Given the description of an element on the screen output the (x, y) to click on. 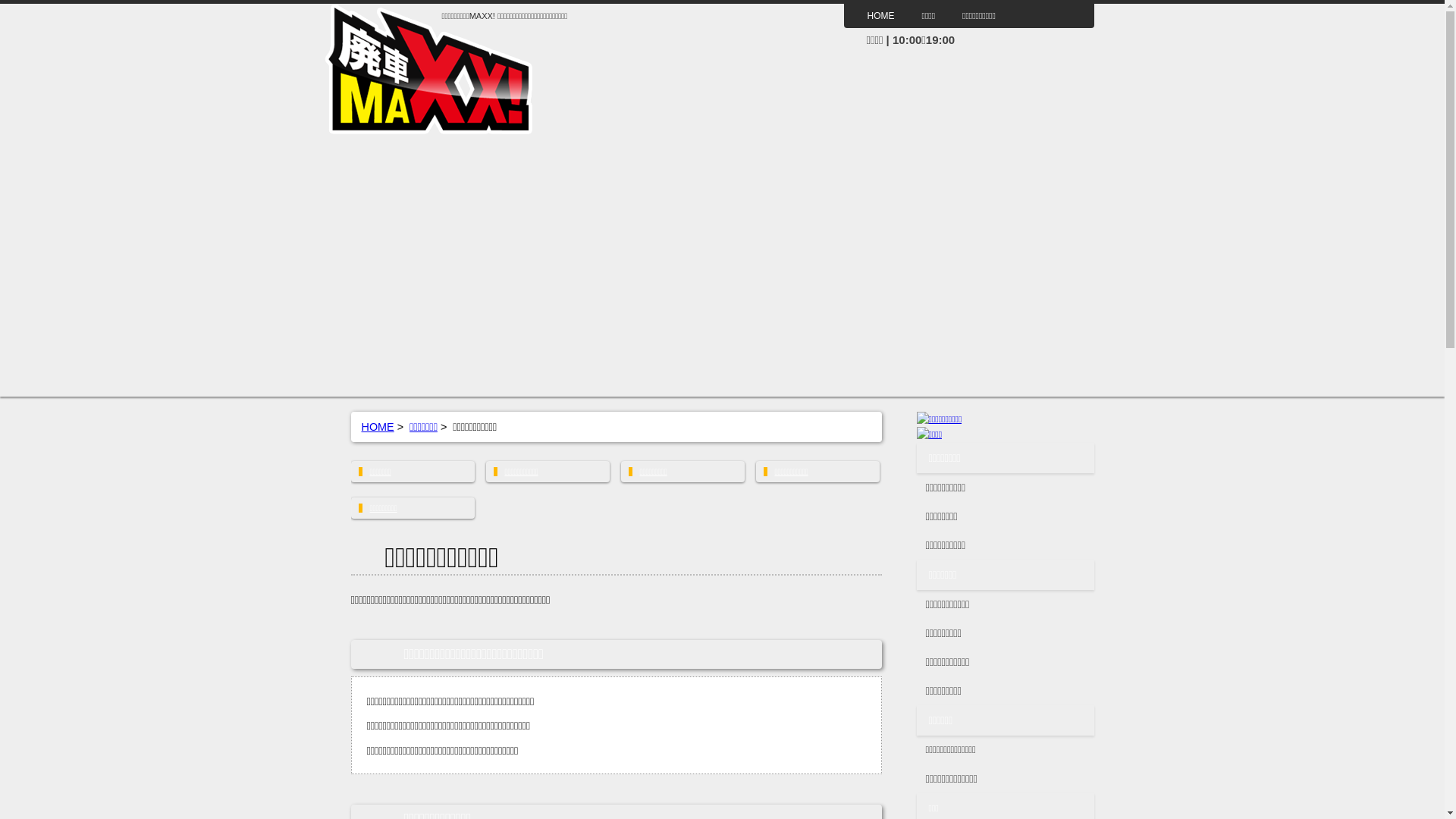
HOME Element type: text (880, 15)
HOME Element type: text (376, 426)
